Given the description of an element on the screen output the (x, y) to click on. 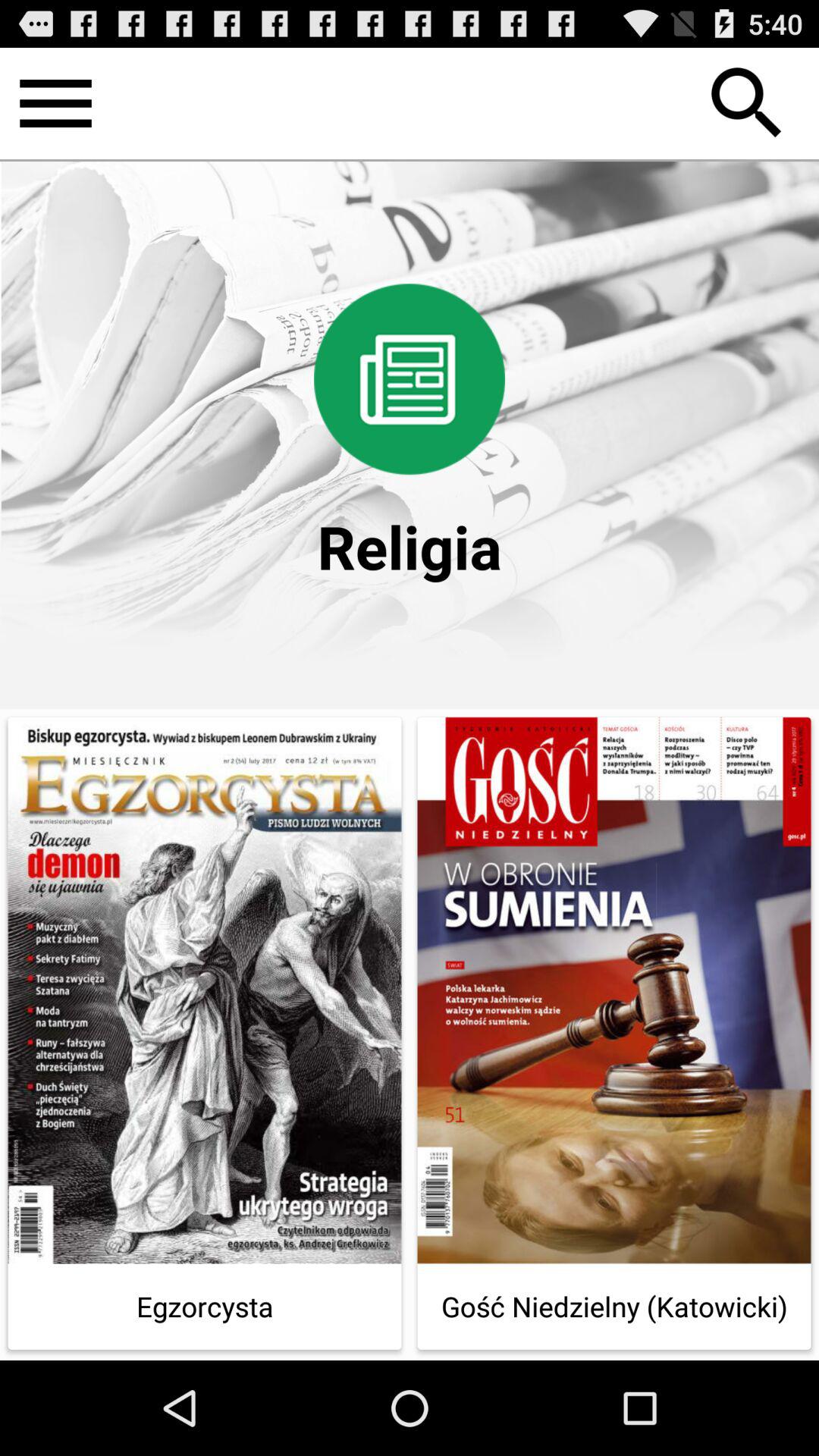
use menu (55, 103)
